Given the description of an element on the screen output the (x, y) to click on. 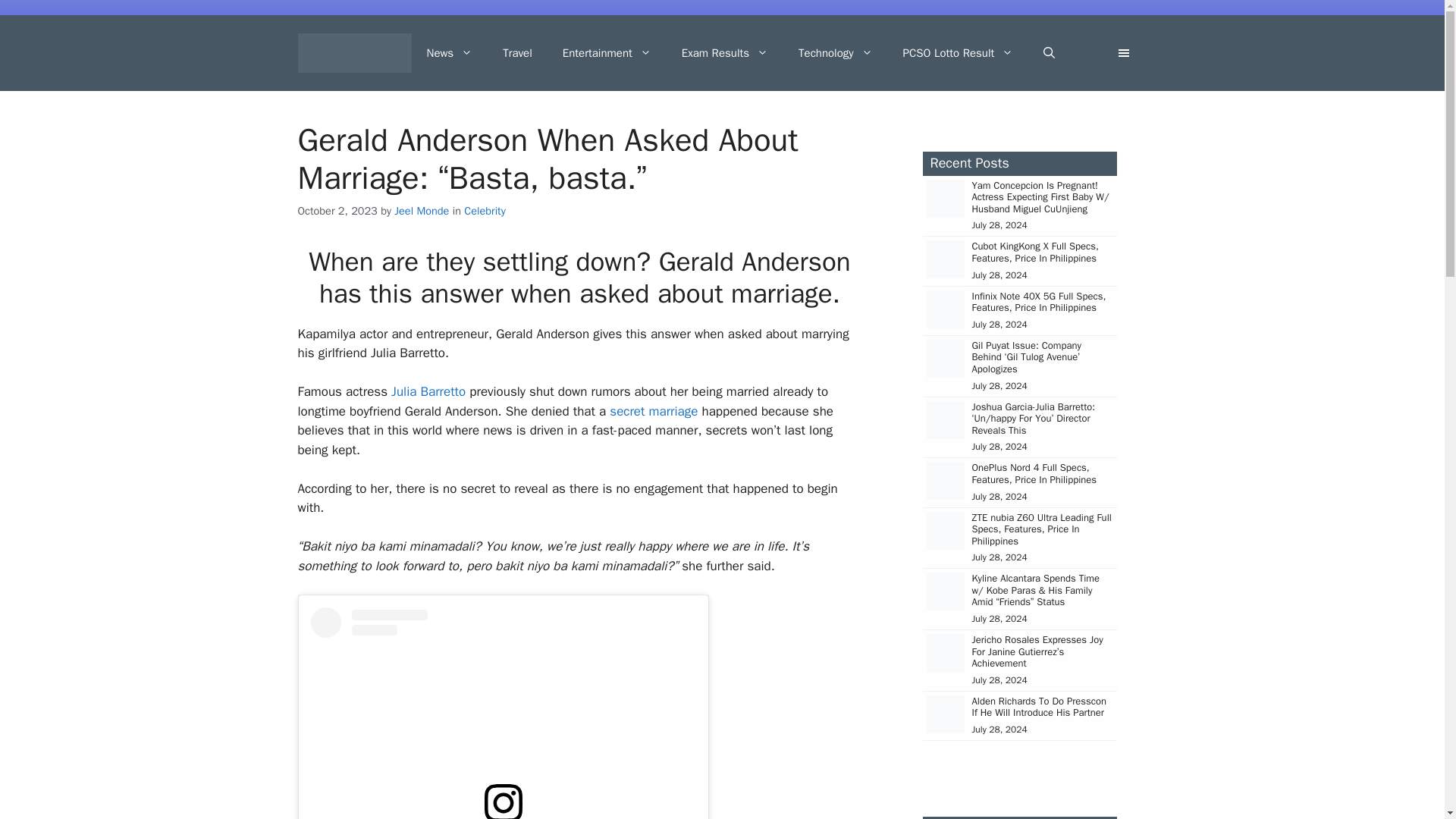
Exam Results (724, 53)
Travel (517, 53)
View all posts by Jeel Monde (421, 210)
News (448, 53)
Entertainment (606, 53)
